Given the description of an element on the screen output the (x, y) to click on. 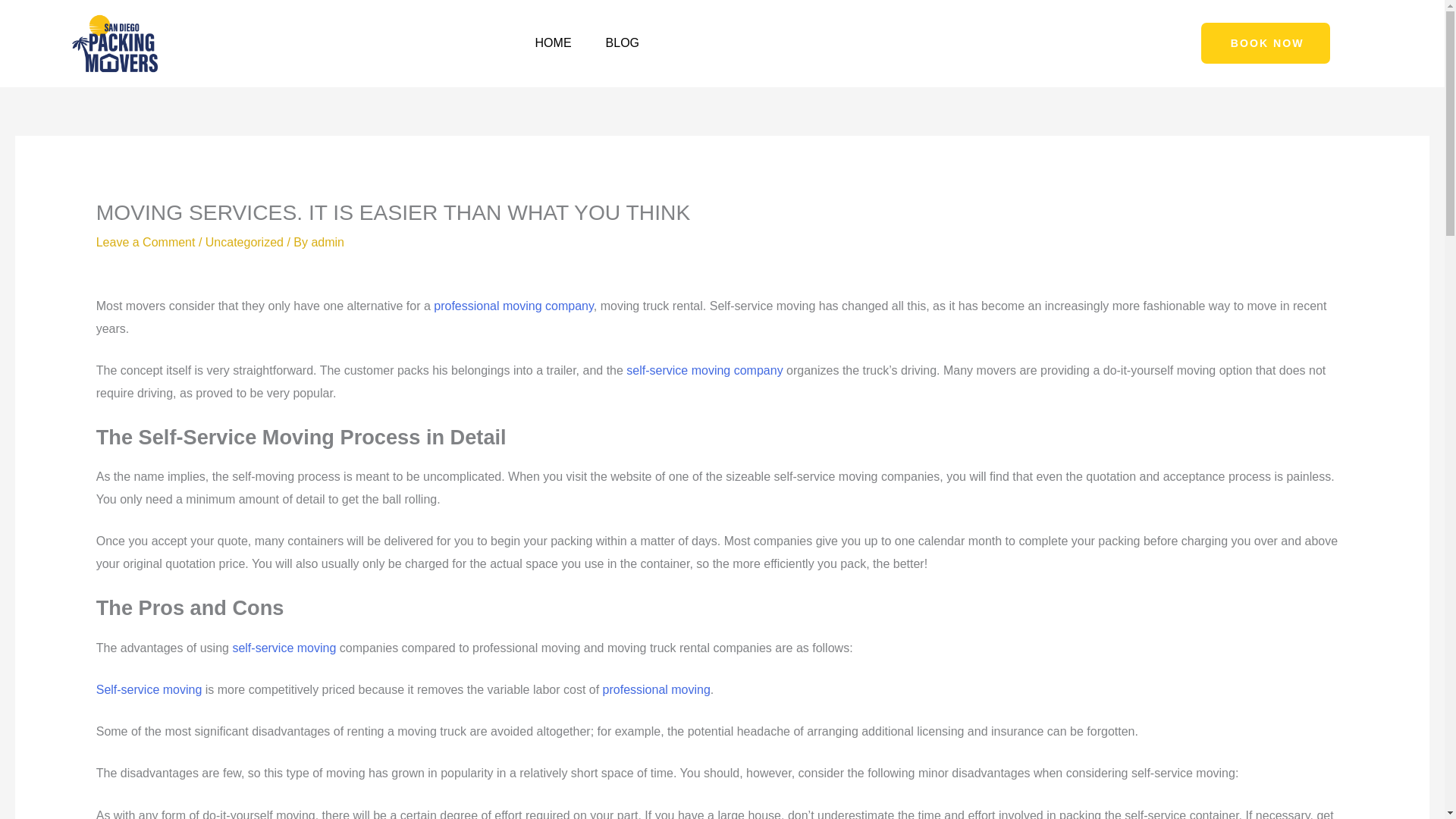
professional moving company (512, 305)
Self-service moving (149, 689)
Leave a Comment (145, 241)
View all posts by admin (327, 241)
admin (327, 241)
BLOG (622, 42)
HOME (552, 42)
Uncategorized (244, 241)
self-service moving company (704, 369)
BOOK NOW (1265, 42)
professional moving (656, 689)
self-service moving (283, 647)
